Given the description of an element on the screen output the (x, y) to click on. 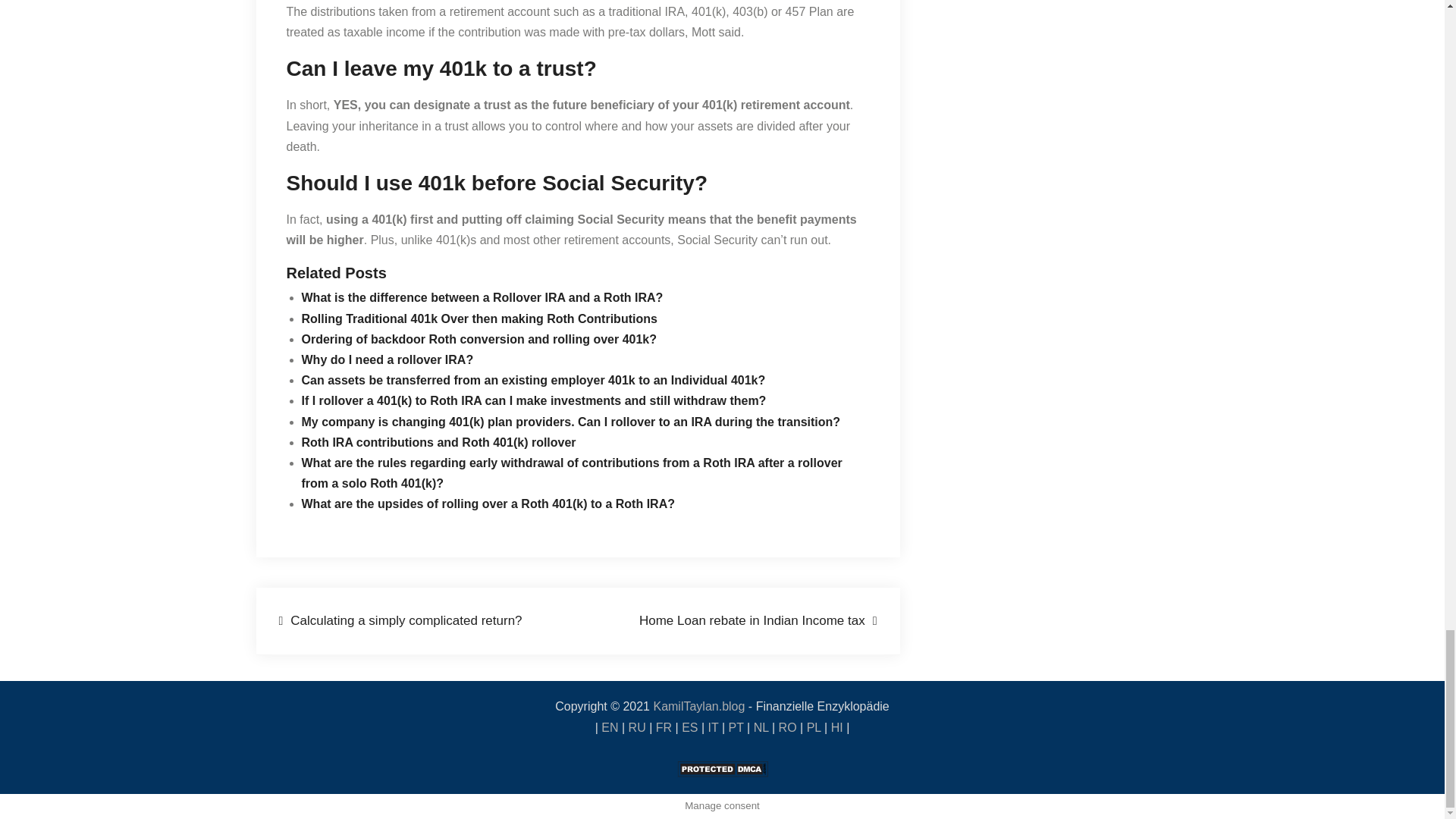
Home Loan rebate in Indian Income tax (758, 621)
Ordering of backdoor Roth conversion and rolling over 401k? (479, 338)
Why do I need a rollover IRA? (387, 359)
Calculating a simply complicated return? (400, 621)
Rolling Traditional 401k Over then making Roth Contributions (479, 318)
